Given the description of an element on the screen output the (x, y) to click on. 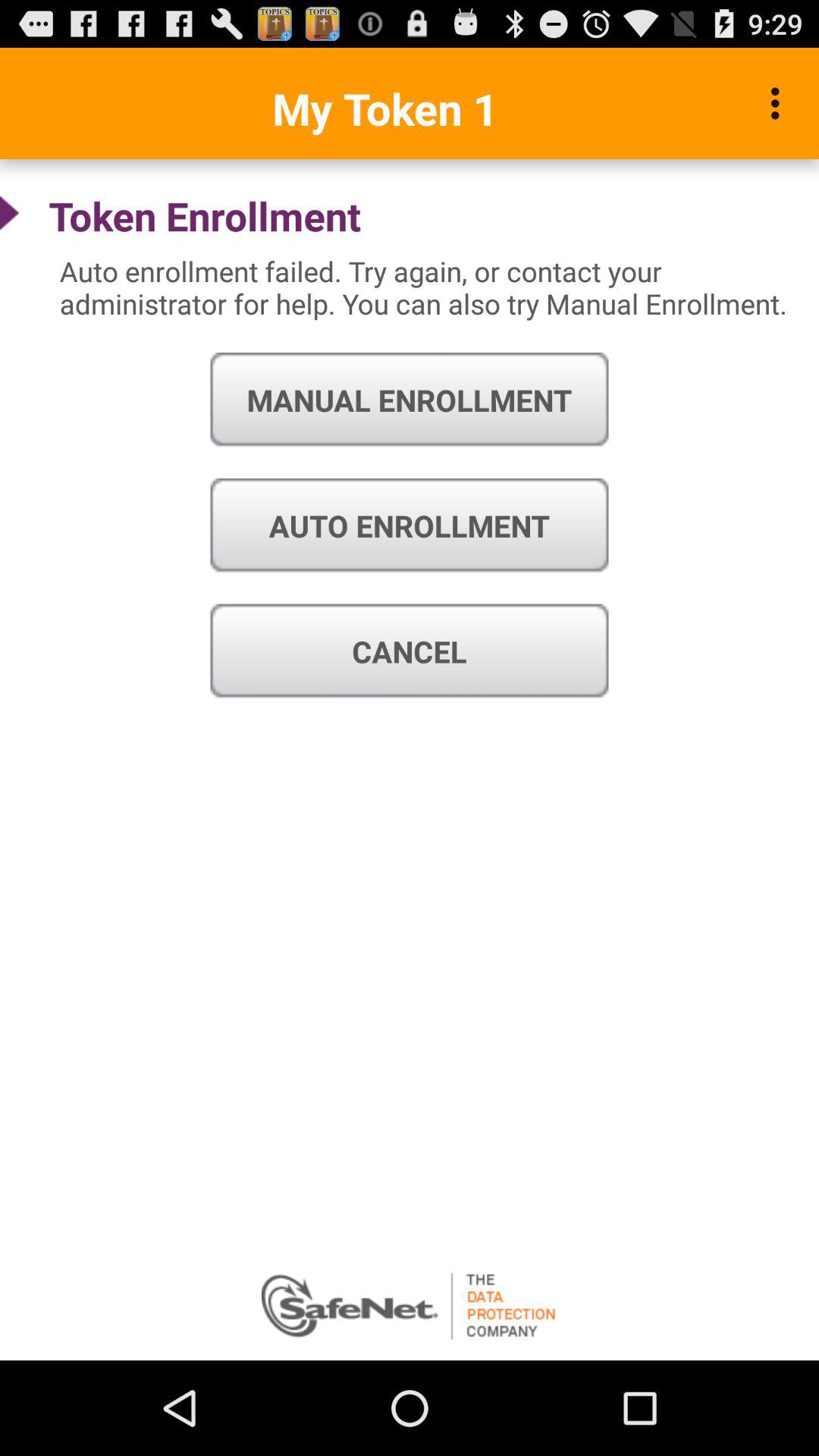
select icon above the auto enrollment failed icon (779, 103)
